Given the description of an element on the screen output the (x, y) to click on. 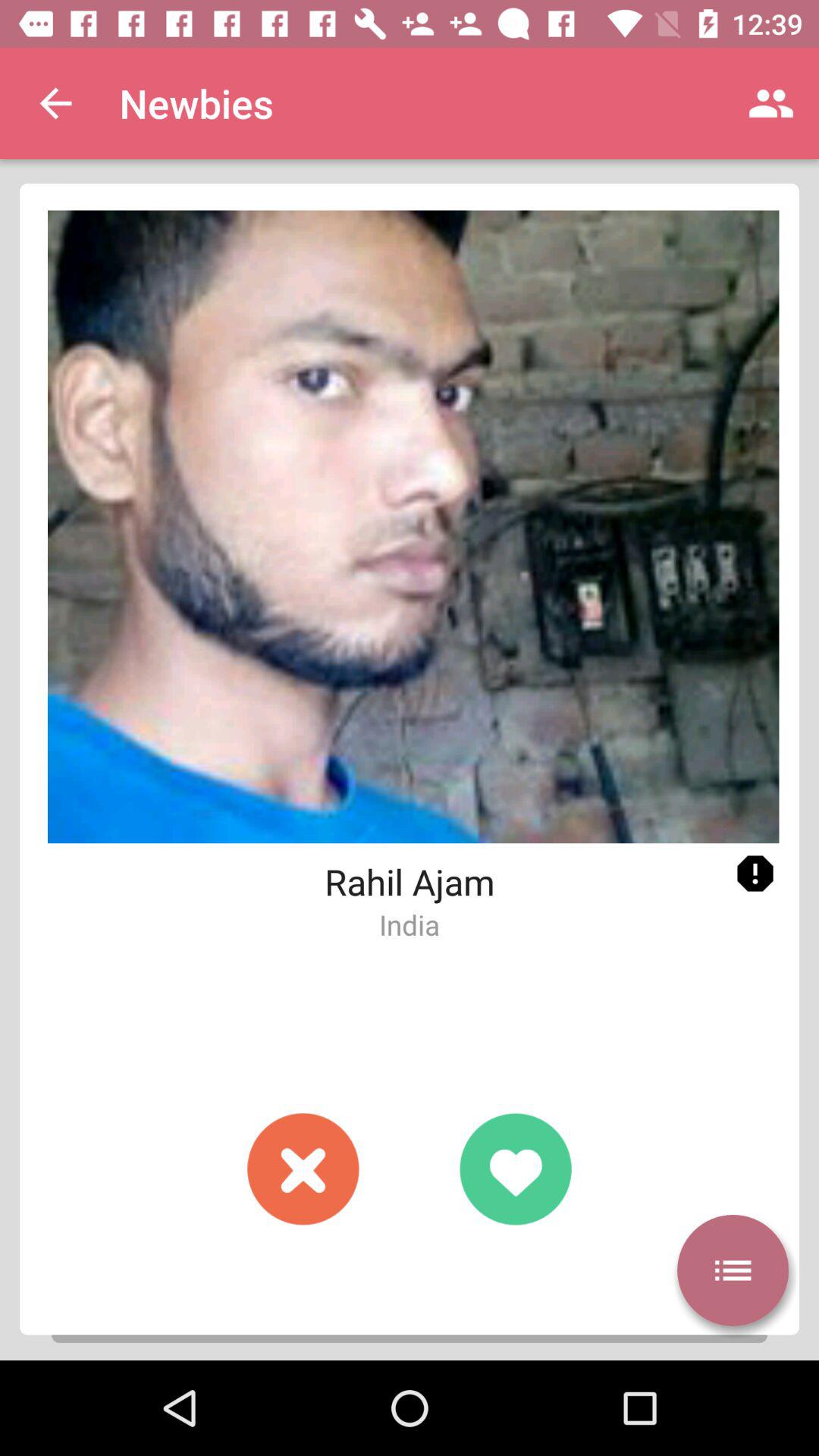
dislike button (303, 1169)
